Given the description of an element on the screen output the (x, y) to click on. 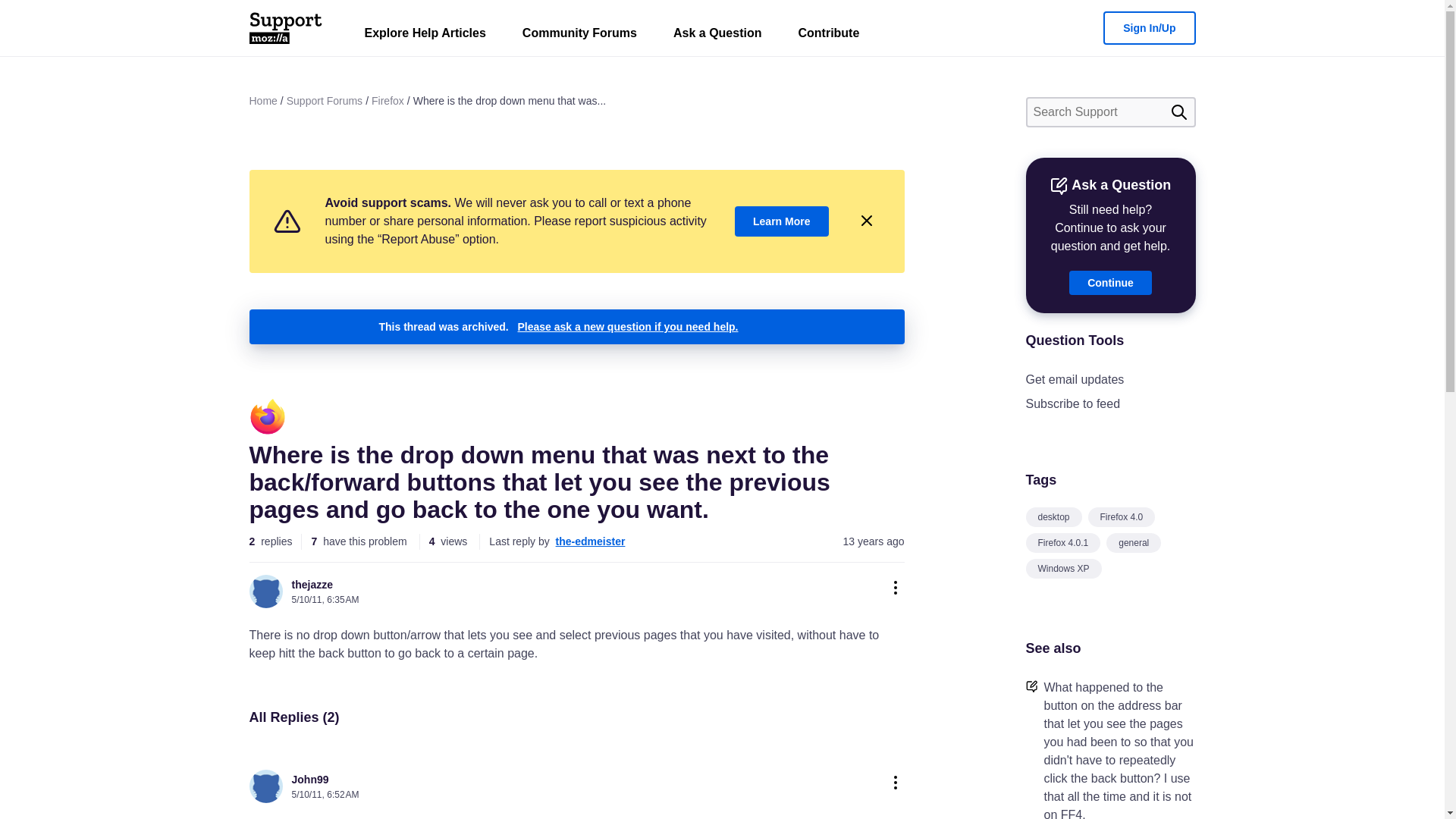
Community Forums (579, 37)
Explore Help Articles (424, 37)
Ask a Question (716, 37)
Search (1178, 111)
